Given the description of an element on the screen output the (x, y) to click on. 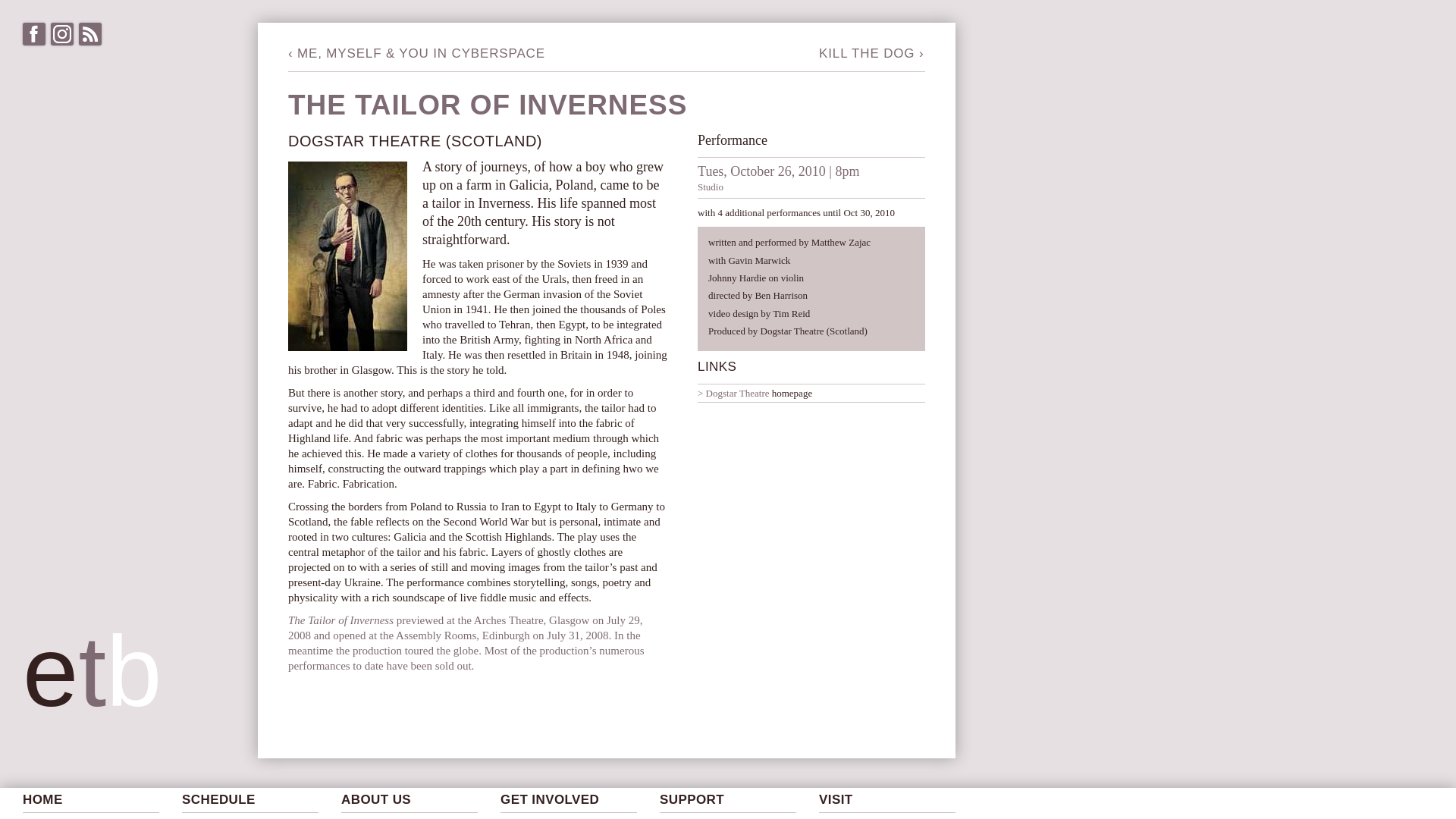
VISIT (886, 800)
RSS (89, 33)
Facebook (34, 33)
SCHEDULE (250, 800)
GET INVOLVED (568, 800)
ABOUT US (408, 800)
Dogstar Theatre (732, 392)
HOME (90, 800)
etb (106, 705)
Visit us on Facebook (34, 33)
